Given the description of an element on the screen output the (x, y) to click on. 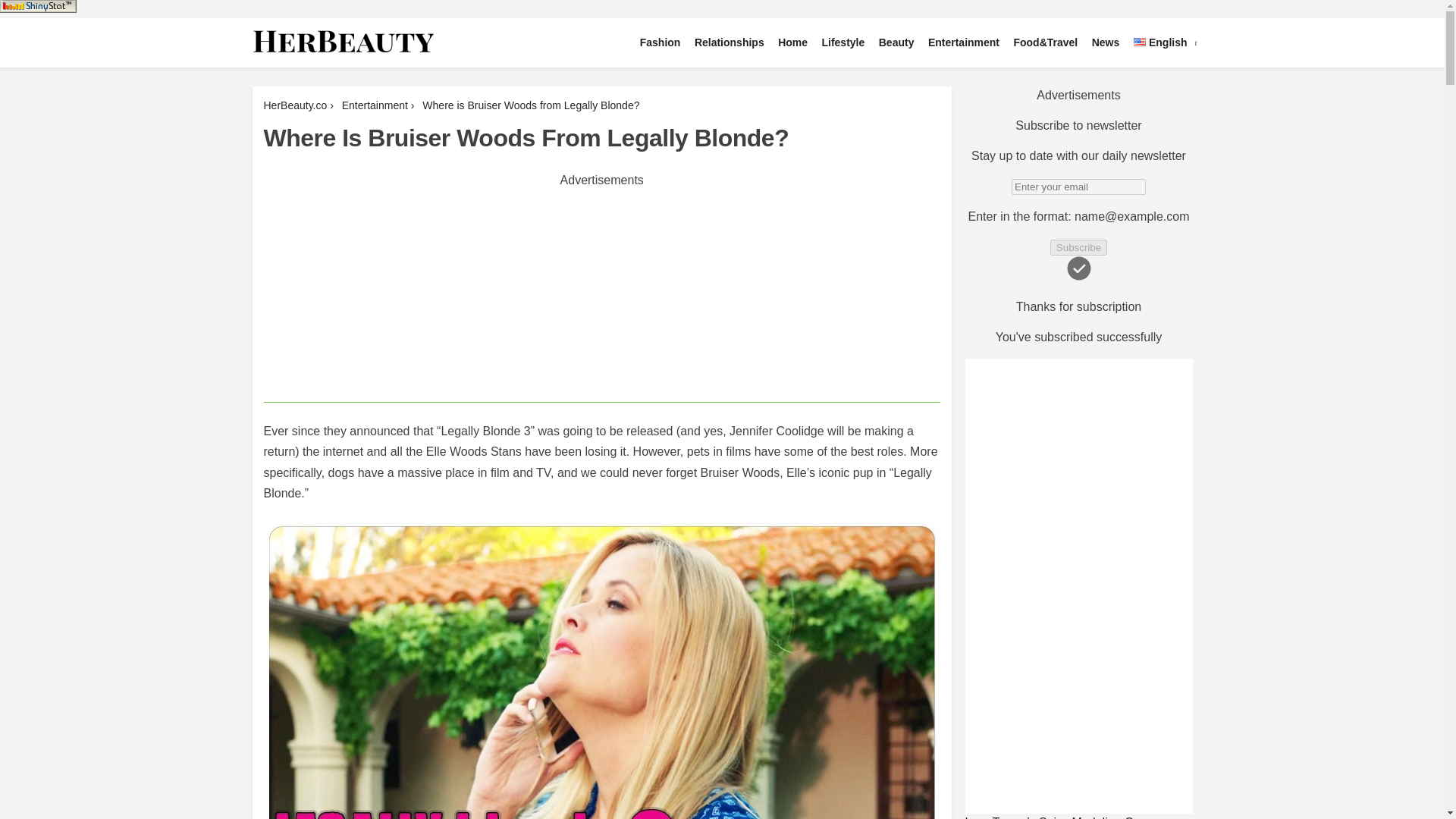
Fashion (659, 42)
Relationships (729, 42)
Where is Bruiser Woods from Legally Blonde?  (532, 105)
English (1160, 42)
Lifestyle (842, 42)
Entertainment (963, 42)
Beauty (896, 42)
Her Beauty (295, 71)
